Given the description of an element on the screen output the (x, y) to click on. 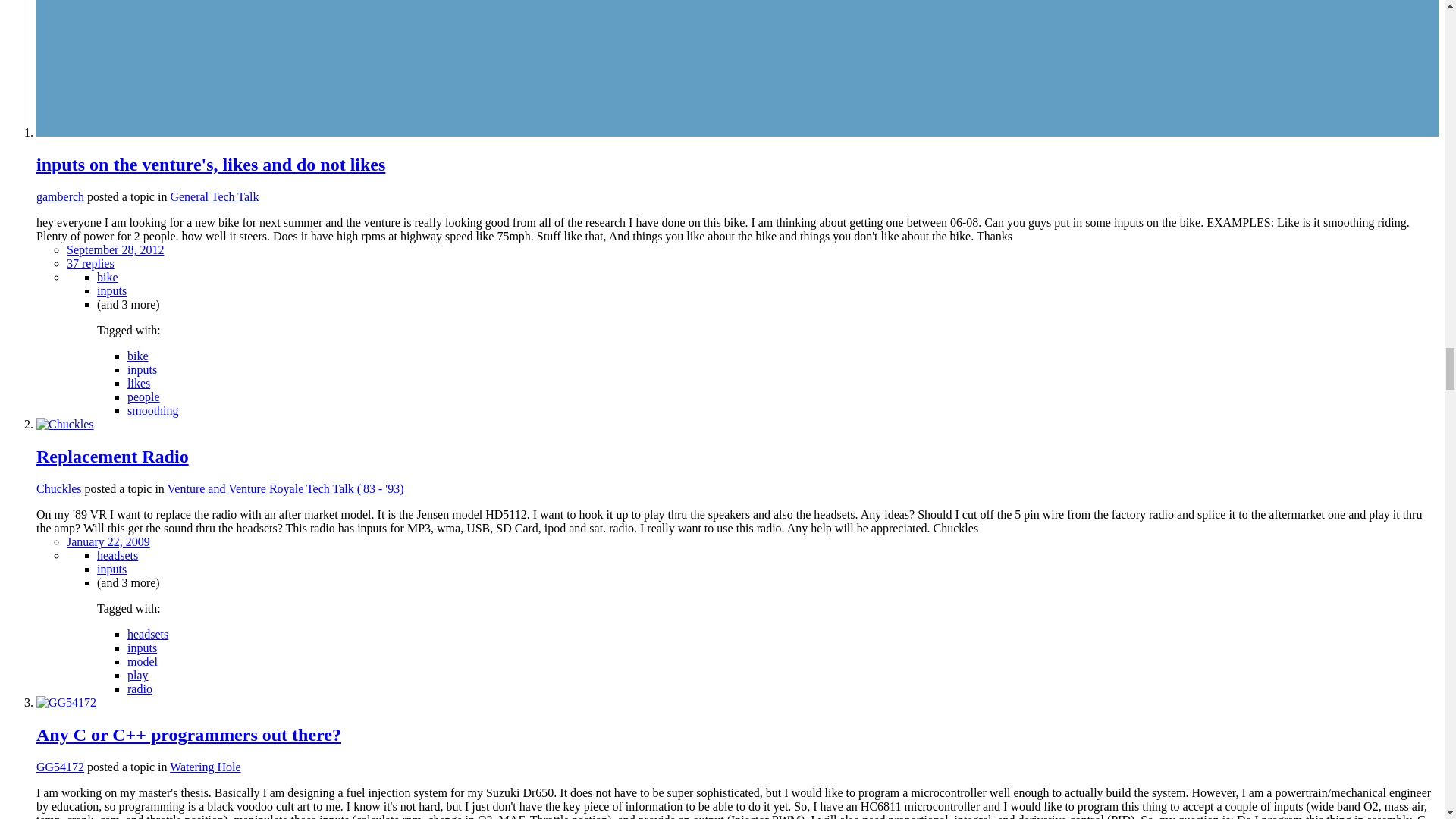
Find other content tagged with 'bike' (107, 277)
Find other content tagged with 'people' (144, 396)
Find other content tagged with 'inputs' (142, 369)
Find other content tagged with 'smoothing' (153, 410)
Find other content tagged with 'headsets' (117, 554)
Go to gamberch's profile (60, 196)
Find other content tagged with 'likes' (138, 382)
Go to Chuckles's profile (65, 423)
Go to Chuckles's profile (58, 488)
Find other content tagged with 'bike' (138, 355)
Find other content tagged with 'inputs' (111, 290)
